Given the description of an element on the screen output the (x, y) to click on. 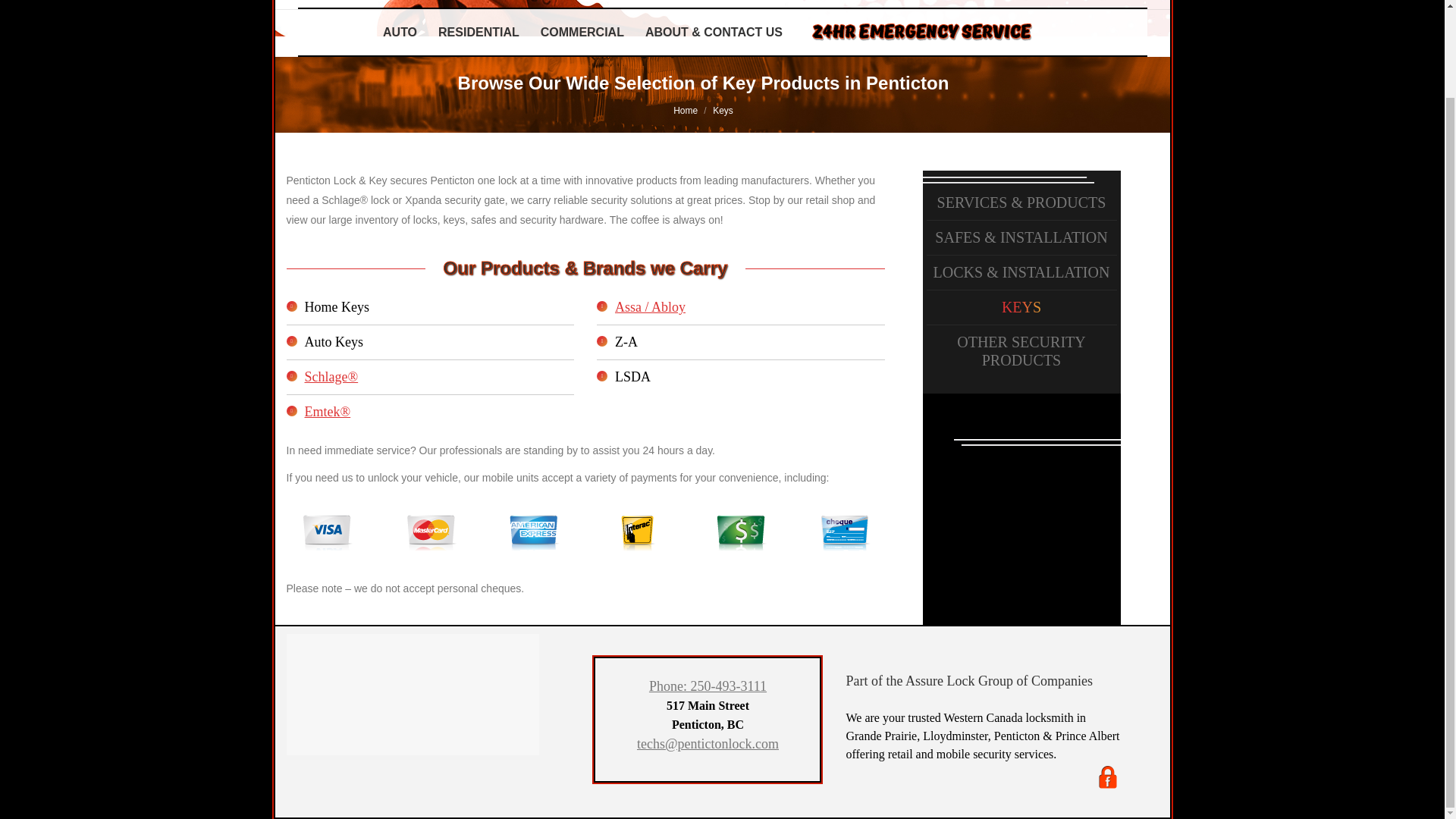
OTHER SECURITY PRODUCTS (1021, 350)
RESIDENTIAL (478, 32)
Facebook (1107, 776)
Part of the Assure Lock Group of Companies (968, 680)
Home (684, 110)
cash (739, 533)
interac-debit-english (636, 533)
cheque (843, 533)
american-express (533, 533)
COMMERCIAL (582, 32)
Home (684, 110)
Phone: 250-493-3111 (708, 685)
visa (326, 533)
Facebook (1107, 785)
mastercard (429, 533)
